Given the description of an element on the screen output the (x, y) to click on. 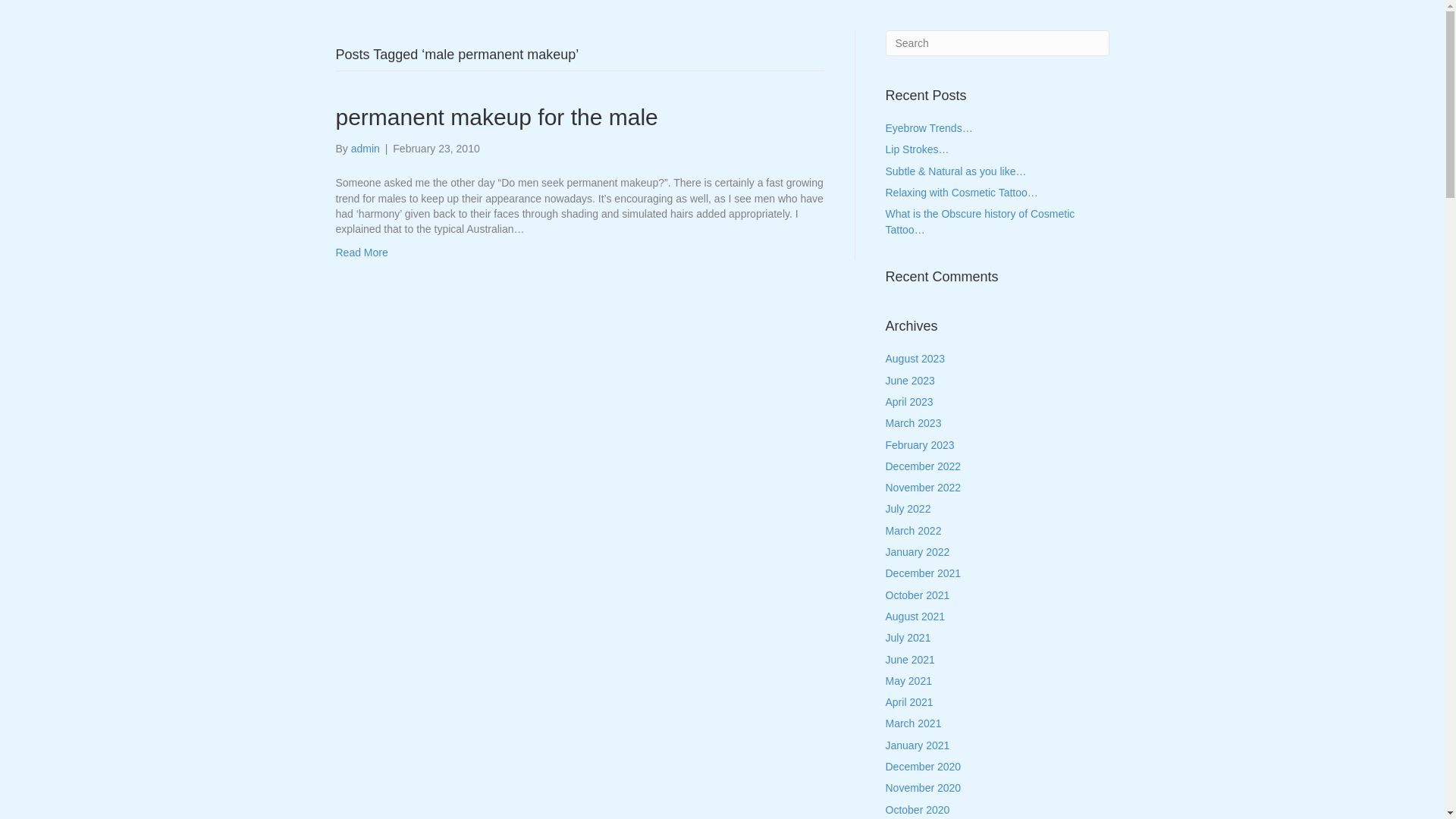
May 2021 Element type: text (908, 680)
June 2023 Element type: text (910, 380)
Read More Element type: text (361, 252)
December 2022 Element type: text (923, 466)
July 2022 Element type: text (908, 508)
March 2021 Element type: text (913, 723)
November 2022 Element type: text (923, 487)
January 2022 Element type: text (917, 552)
July 2021 Element type: text (908, 637)
February 2023 Element type: text (919, 445)
April 2023 Element type: text (909, 401)
August 2023 Element type: text (915, 358)
January 2021 Element type: text (917, 745)
August 2021 Element type: text (915, 616)
December 2020 Element type: text (923, 766)
Type and press Enter to search. Element type: hover (997, 43)
April 2021 Element type: text (909, 702)
October 2021 Element type: text (917, 595)
permanent makeup for the male Element type: text (496, 116)
March 2022 Element type: text (913, 530)
June 2021 Element type: text (910, 659)
March 2023 Element type: text (913, 423)
admin Element type: text (365, 148)
October 2020 Element type: text (917, 809)
November 2020 Element type: text (923, 787)
December 2021 Element type: text (923, 573)
